Given the description of an element on the screen output the (x, y) to click on. 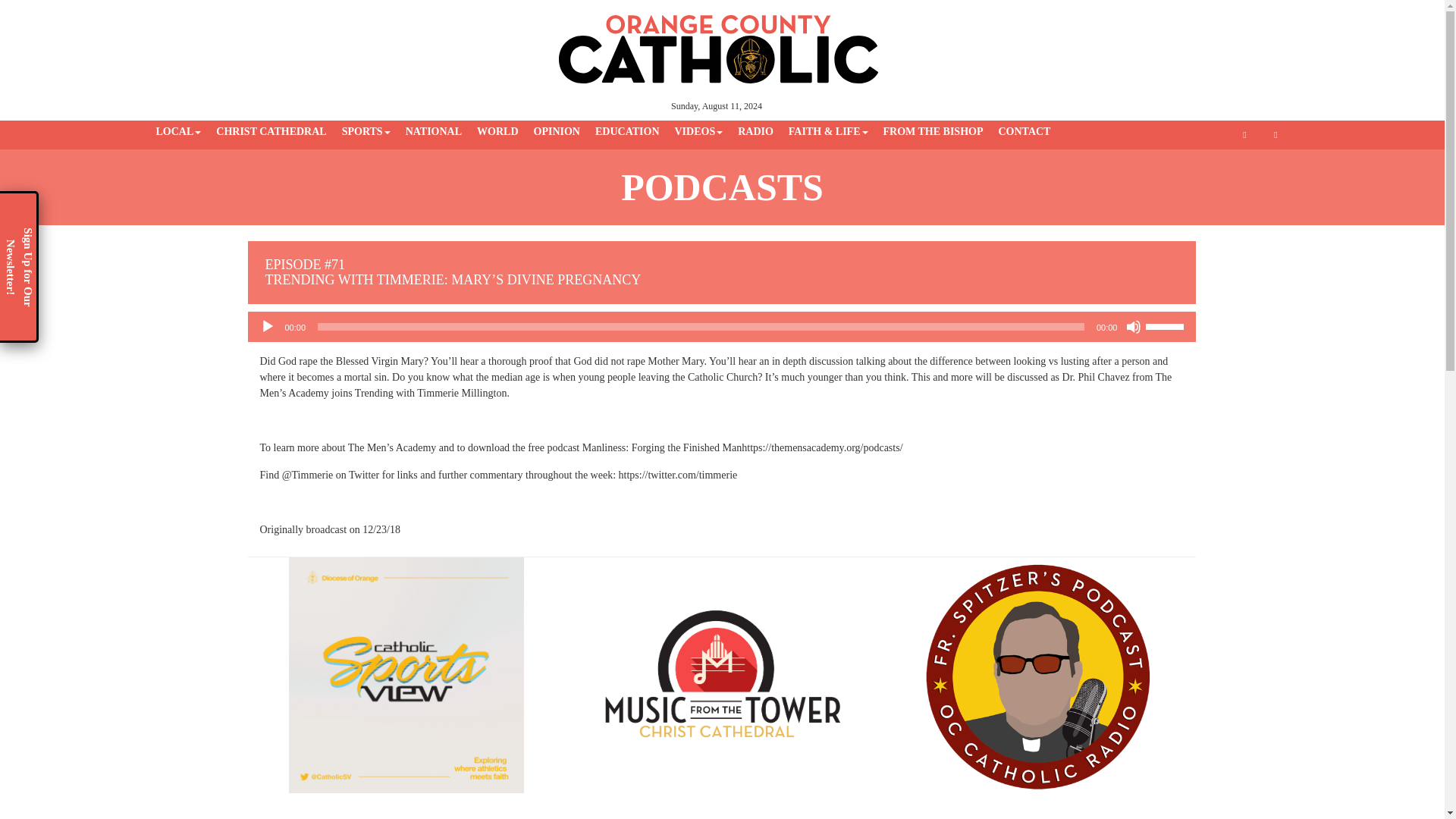
WORLD (496, 131)
Play (267, 326)
SPORTS (365, 131)
OPINION (556, 131)
VIDEOS (698, 131)
FROM THE BISHOP (932, 131)
EDUCATION (627, 131)
CONTACT (1024, 131)
CHRIST CATHEDRAL (270, 131)
LOCAL (178, 131)
